Given the description of an element on the screen output the (x, y) to click on. 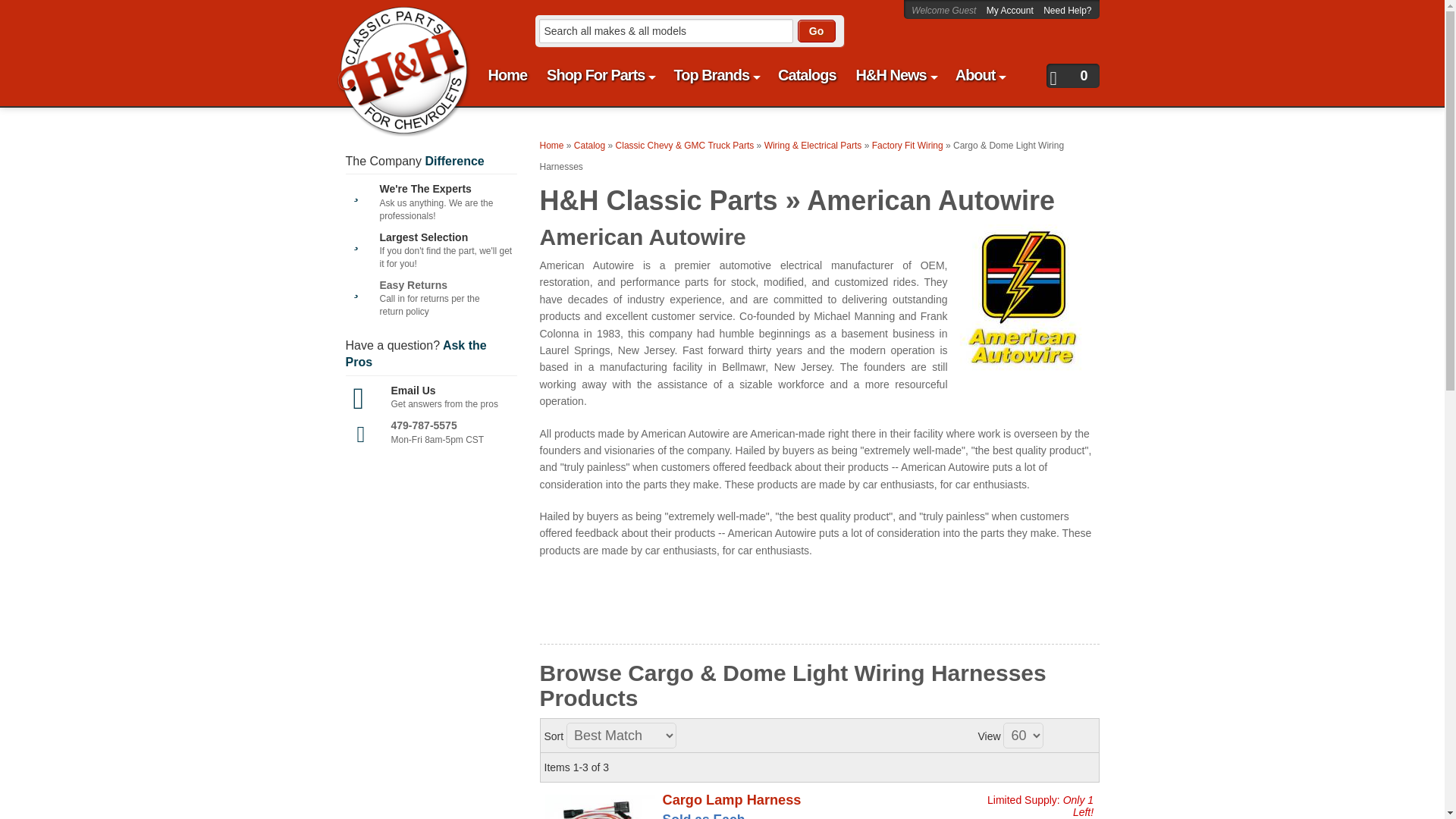
Home (394, 20)
Home (507, 75)
Need Help? (1066, 9)
My Account (1011, 9)
Go (816, 30)
Home (507, 75)
Go (816, 30)
0 (1072, 75)
Shop For Parts (599, 75)
Top Brands (715, 75)
